Given the description of an element on the screen output the (x, y) to click on. 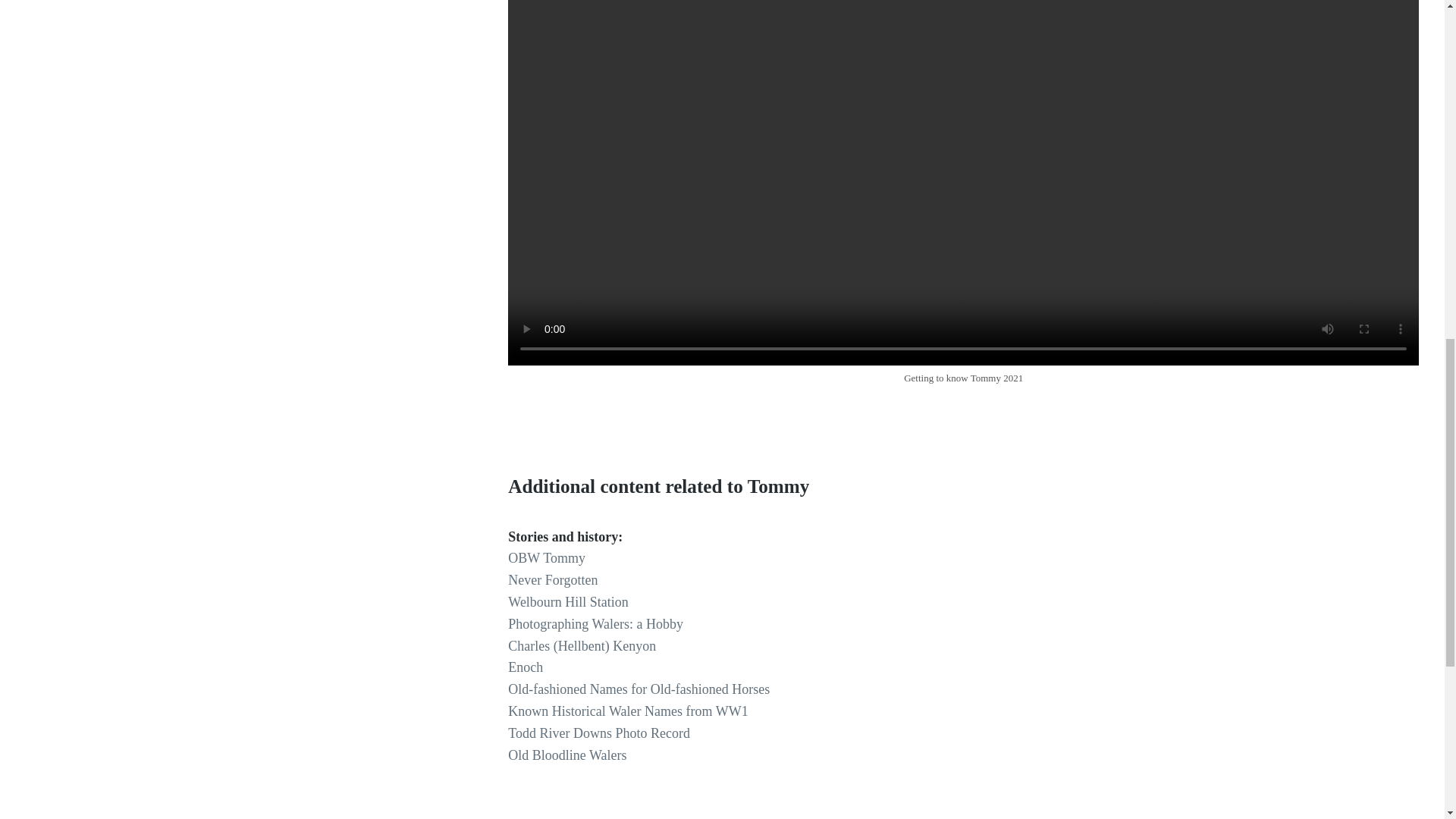
Welbourn Hill Station (568, 601)
Known Historical Waler Names from WW1 (628, 711)
Old Bloodline Walers (567, 754)
Enoch (525, 667)
OBW Tommy (546, 557)
Photographing Walers: a Hobby (595, 623)
Old-fashioned Names for Old-fashioned Horses (639, 688)
Never Forgotten (552, 580)
Todd River Downs Photo Record (599, 733)
